Given the description of an element on the screen output the (x, y) to click on. 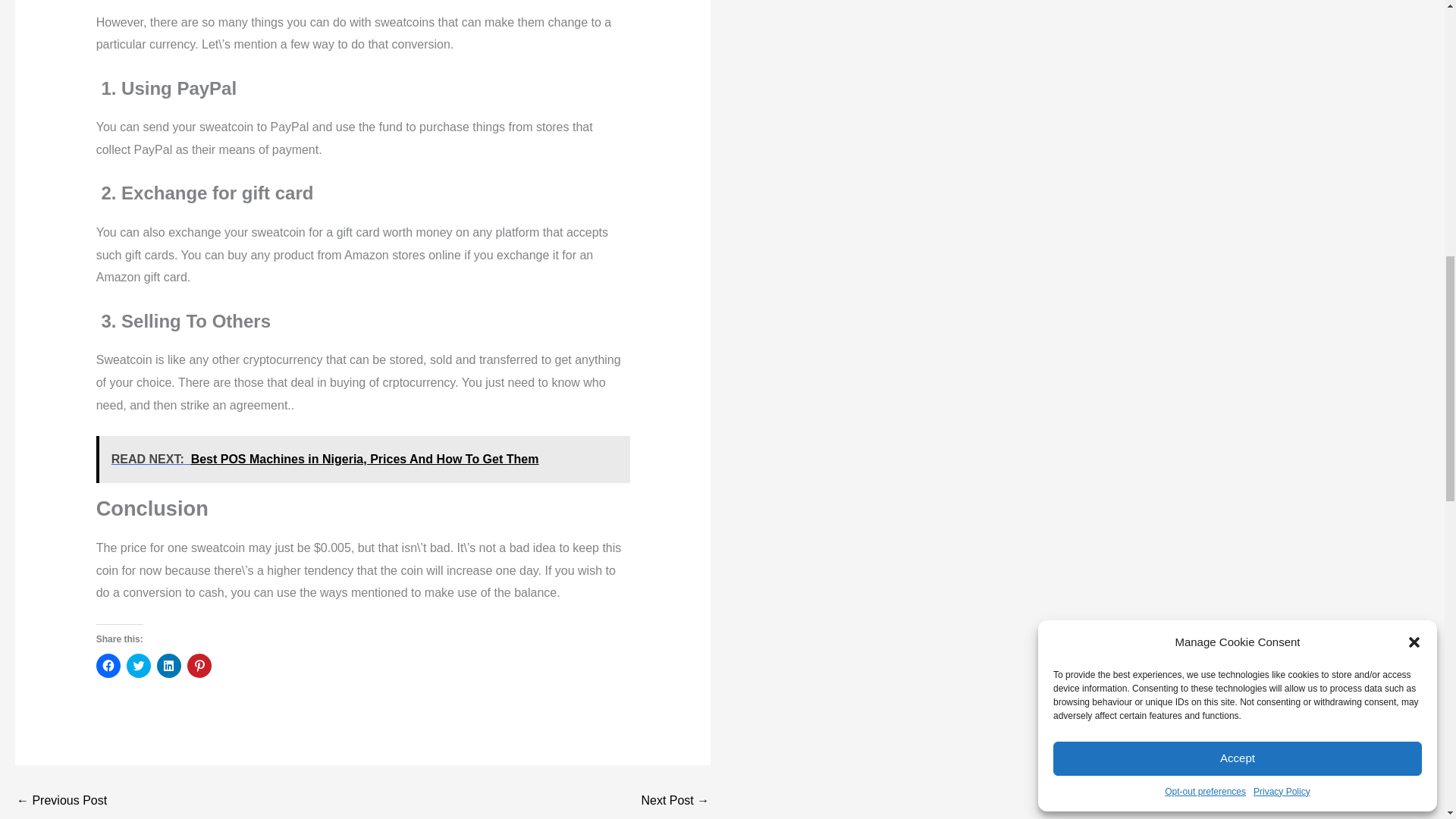
Click to share on Twitter (138, 665)
Click to share on LinkedIn (168, 665)
Click to share on Facebook (108, 665)
Click to share on Pinterest (199, 665)
